Given the description of an element on the screen output the (x, y) to click on. 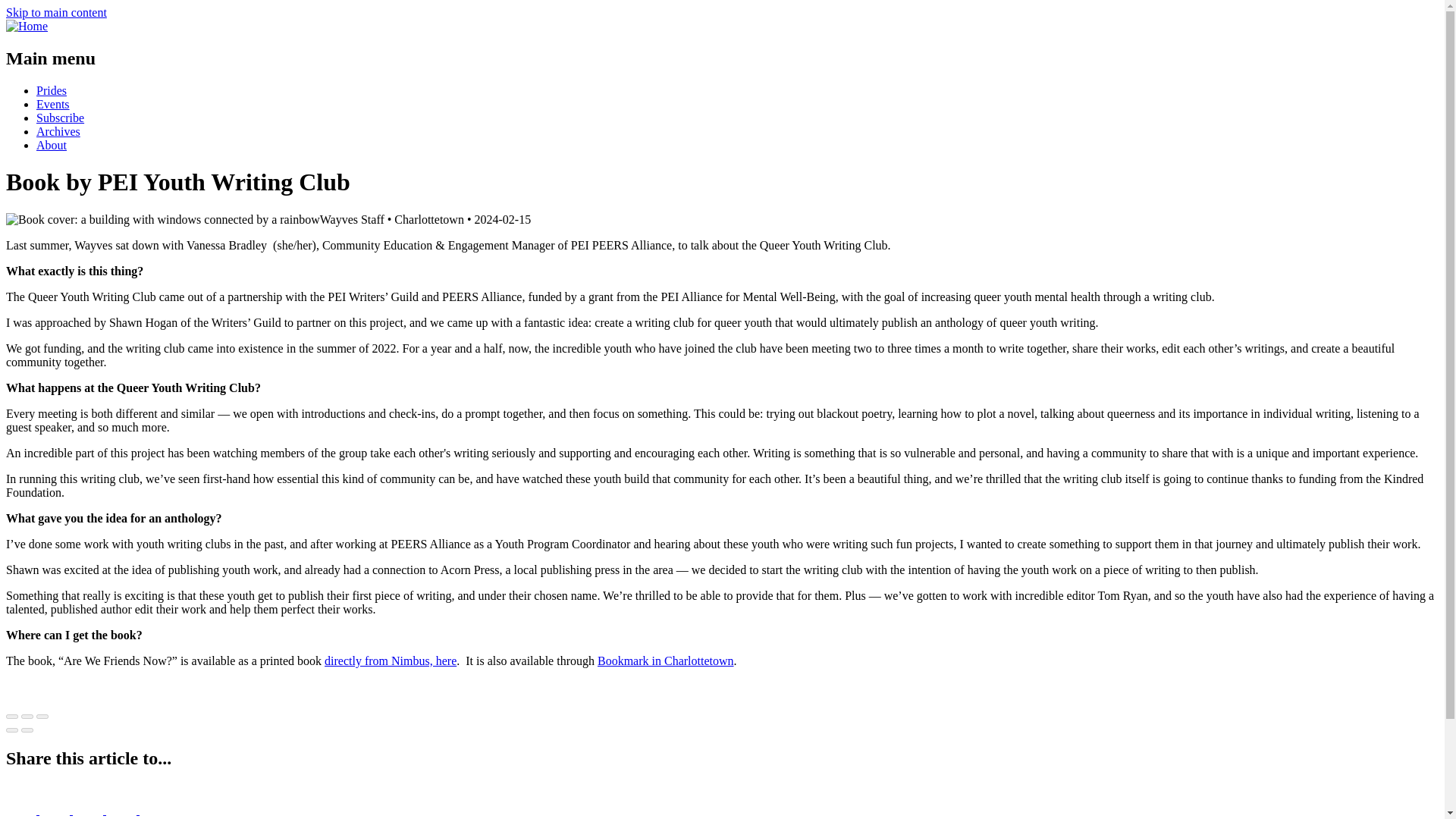
Skip to main content (55, 11)
Subscribe (60, 117)
Share to X (55, 809)
About (51, 144)
directly from Nimbus, here (390, 660)
Events (52, 103)
Be notified of new articles (60, 117)
Share to Facebook (22, 809)
Bookmark in Charlottetown (664, 660)
Share to Linkedin (89, 809)
